Given the description of an element on the screen output the (x, y) to click on. 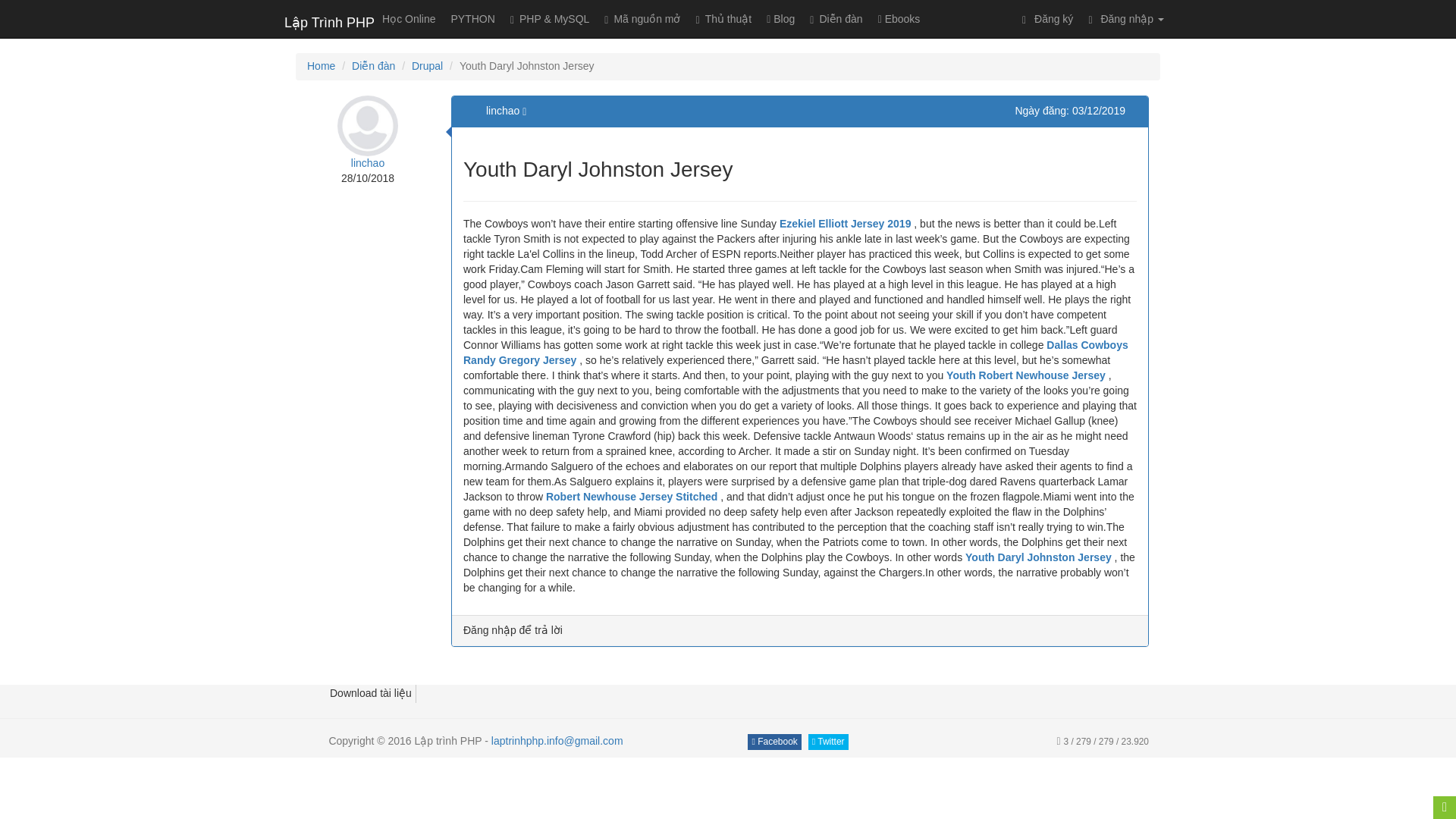
PYTHON (473, 18)
Home (320, 65)
Blog (780, 18)
linchao (504, 110)
Drupal (427, 65)
linchao (367, 162)
Ebooks (899, 18)
